Given the description of an element on the screen output the (x, y) to click on. 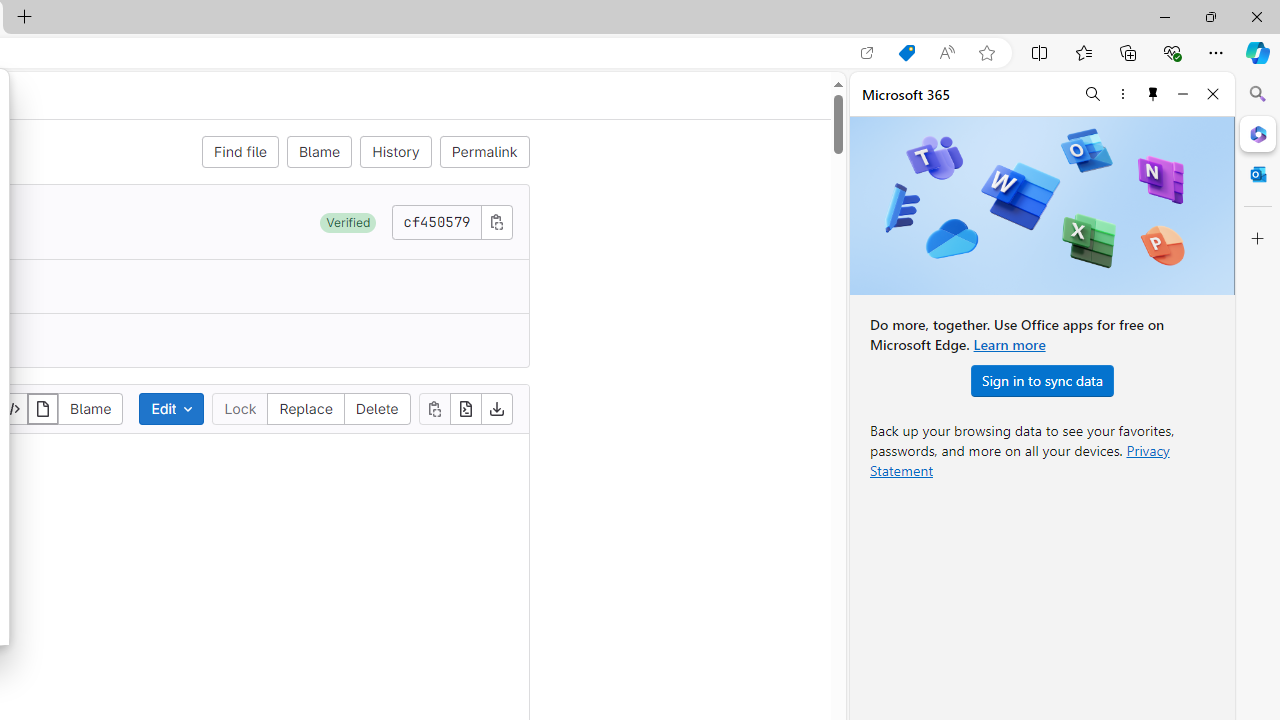
Split screen (1039, 52)
Privacy Statement (1019, 460)
Copy file contents (434, 408)
Shopping in Microsoft Edge (906, 53)
Open raw (465, 408)
Class: s16 gl-icon gl-button-icon  (496, 221)
Blame (319, 151)
Lock (240, 408)
Restore (1210, 16)
Learn more about Microsoft Office. (1008, 344)
Open in app (867, 53)
Copilot (Ctrl+Shift+.) (1258, 52)
Browser essentials (1171, 52)
More options (1122, 93)
Unpin side pane (1153, 93)
